Given the description of an element on the screen output the (x, y) to click on. 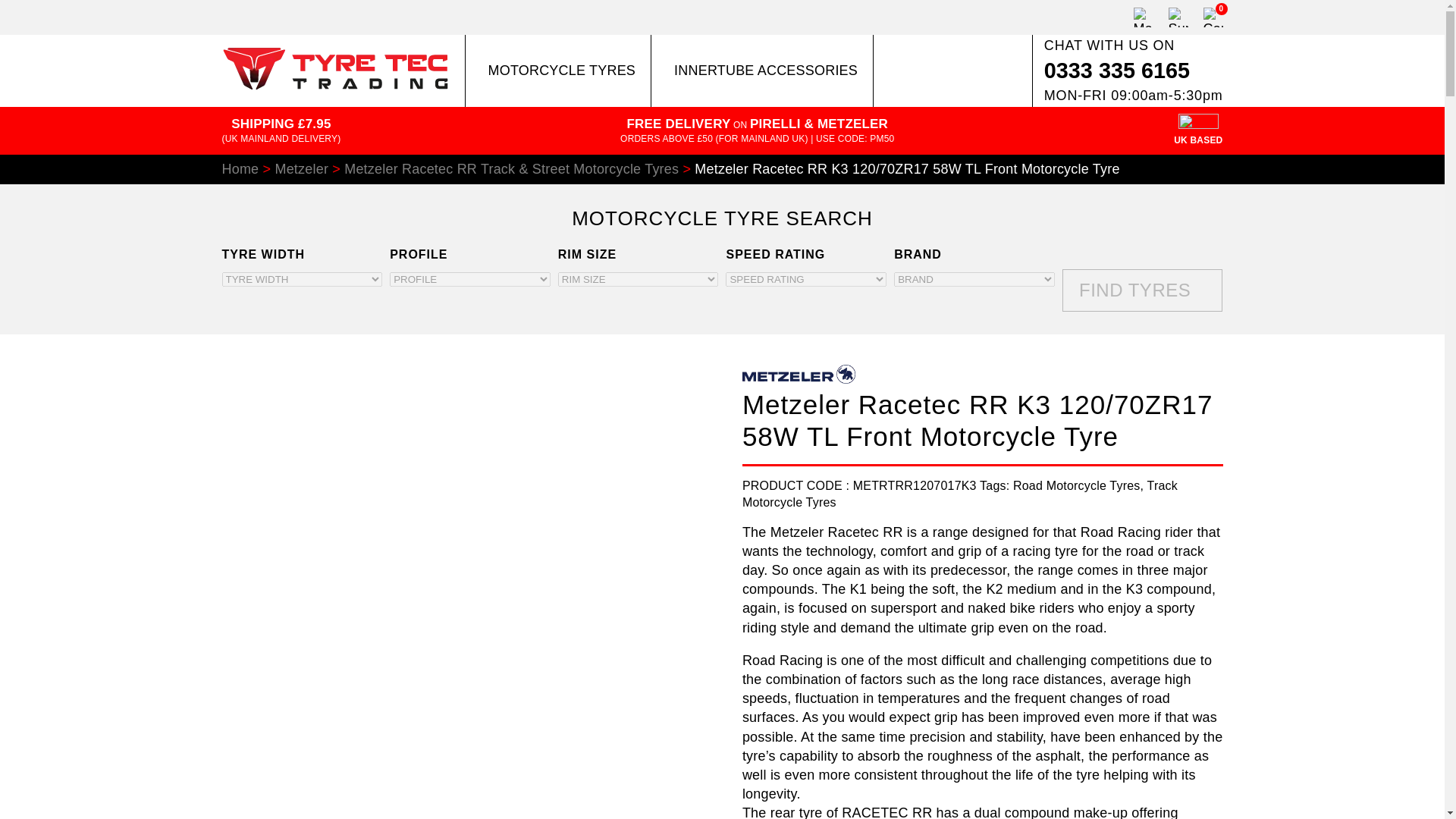
MOTORCYCLE TYRES (557, 70)
0 (1212, 17)
TyreTec Trading (334, 85)
